Given the description of an element on the screen output the (x, y) to click on. 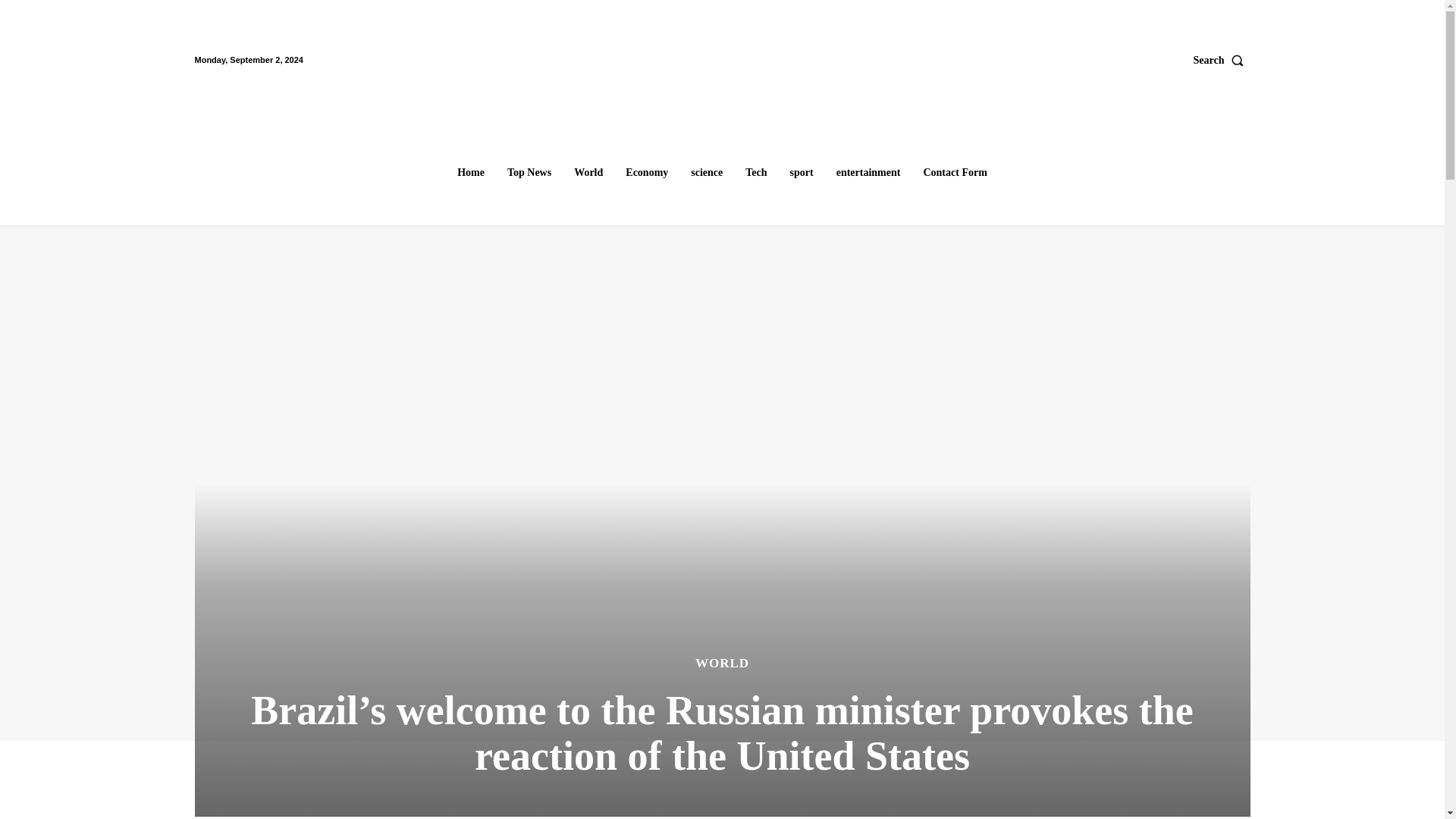
entertainment (868, 173)
Economy (646, 173)
World (588, 173)
Top News (529, 173)
Search (1221, 60)
science (706, 173)
sport (802, 173)
Home (470, 173)
Tech (756, 173)
Contact Form (954, 173)
